Given the description of an element on the screen output the (x, y) to click on. 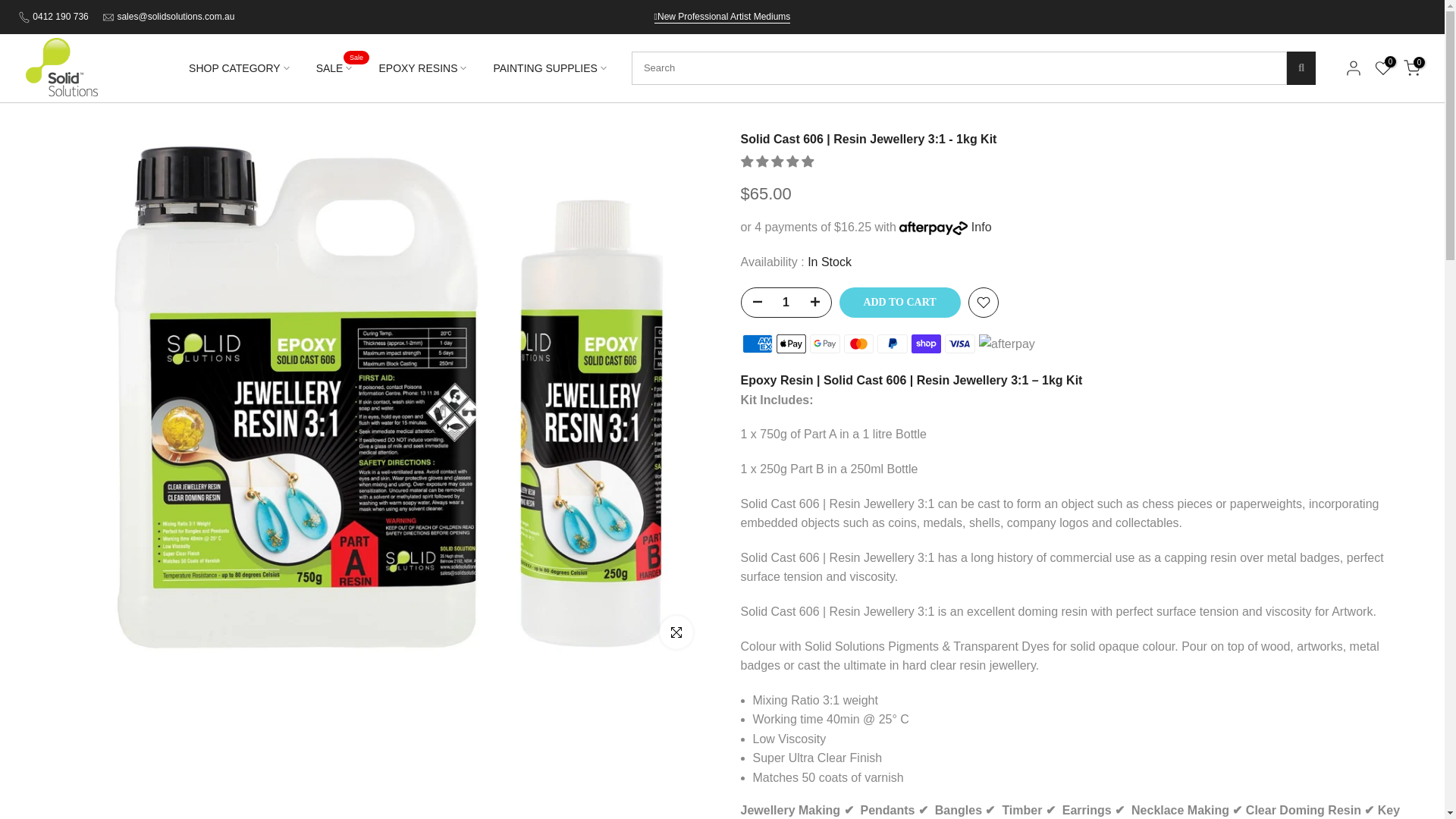
EPOXY RESINS (422, 67)
0 (333, 67)
0 (1382, 67)
Skip to content (1412, 67)
0412 190 736 (10, 7)
ADD TO CART (59, 16)
1 (898, 302)
SHOP CATEGORY (786, 302)
PAINTING SUPPLIES (239, 67)
Info (550, 67)
Artist Mediums (981, 226)
